Given the description of an element on the screen output the (x, y) to click on. 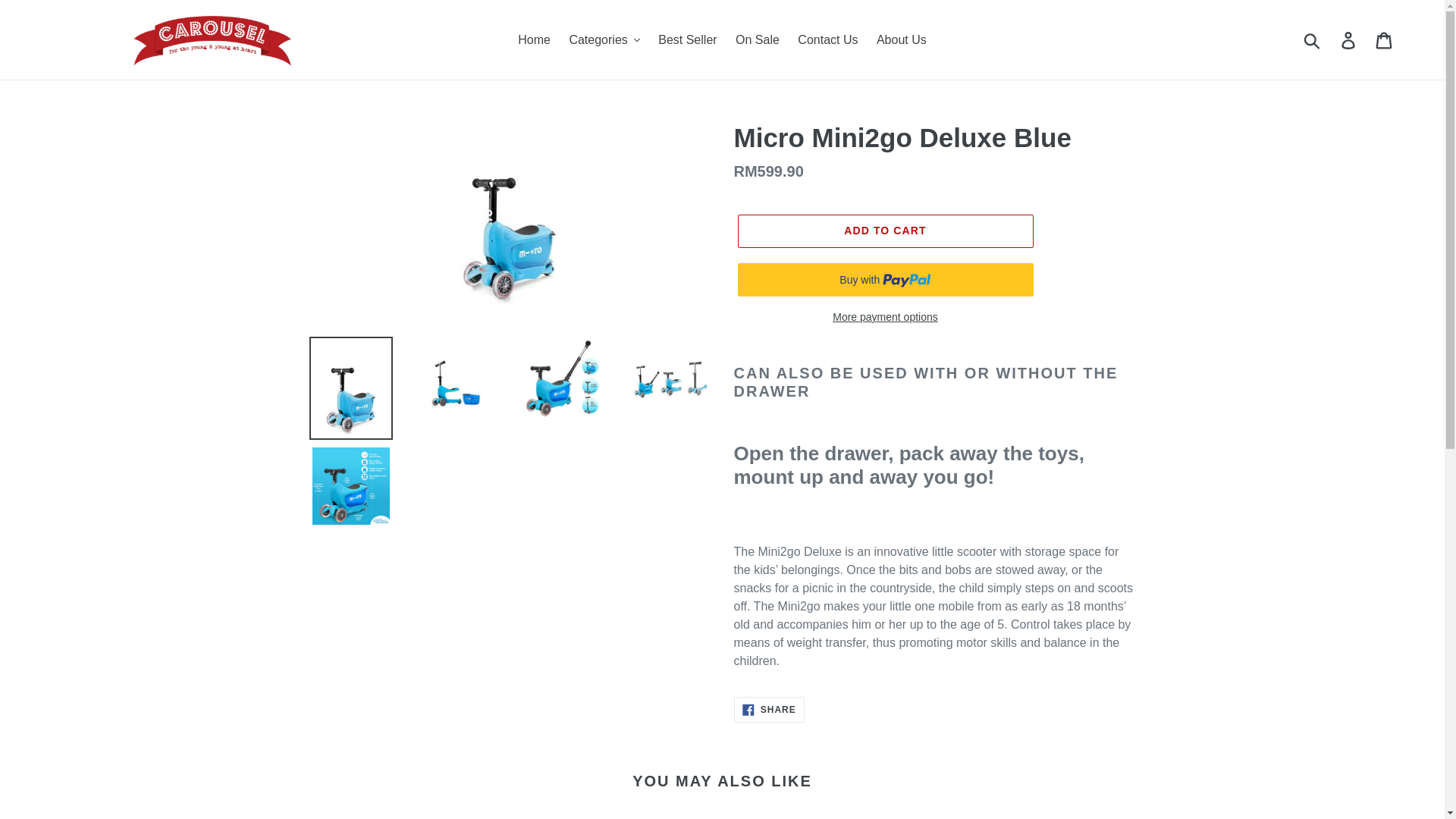
Submit (1313, 39)
Contact Us (827, 39)
Log in (1349, 39)
Best Seller (686, 39)
Home (534, 39)
On Sale (757, 39)
About Us (901, 39)
Cart (1385, 39)
